Given the description of an element on the screen output the (x, y) to click on. 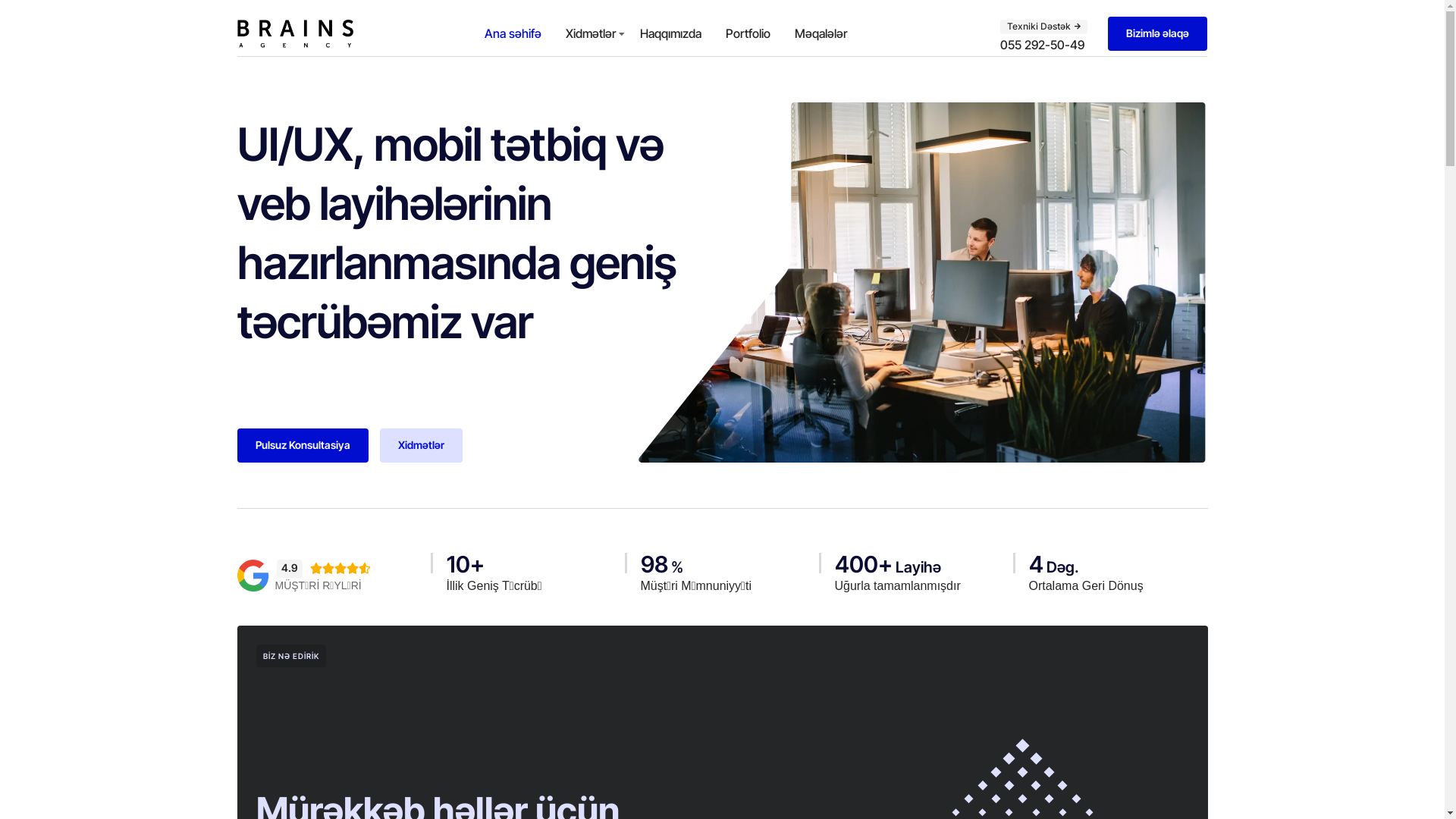
055 292-50-49 Element type: text (1042, 44)
4.9 Element type: text (288, 567)
Pulsuz Konsultasiya Element type: text (301, 445)
Portfolio Element type: text (747, 33)
